Given the description of an element on the screen output the (x, y) to click on. 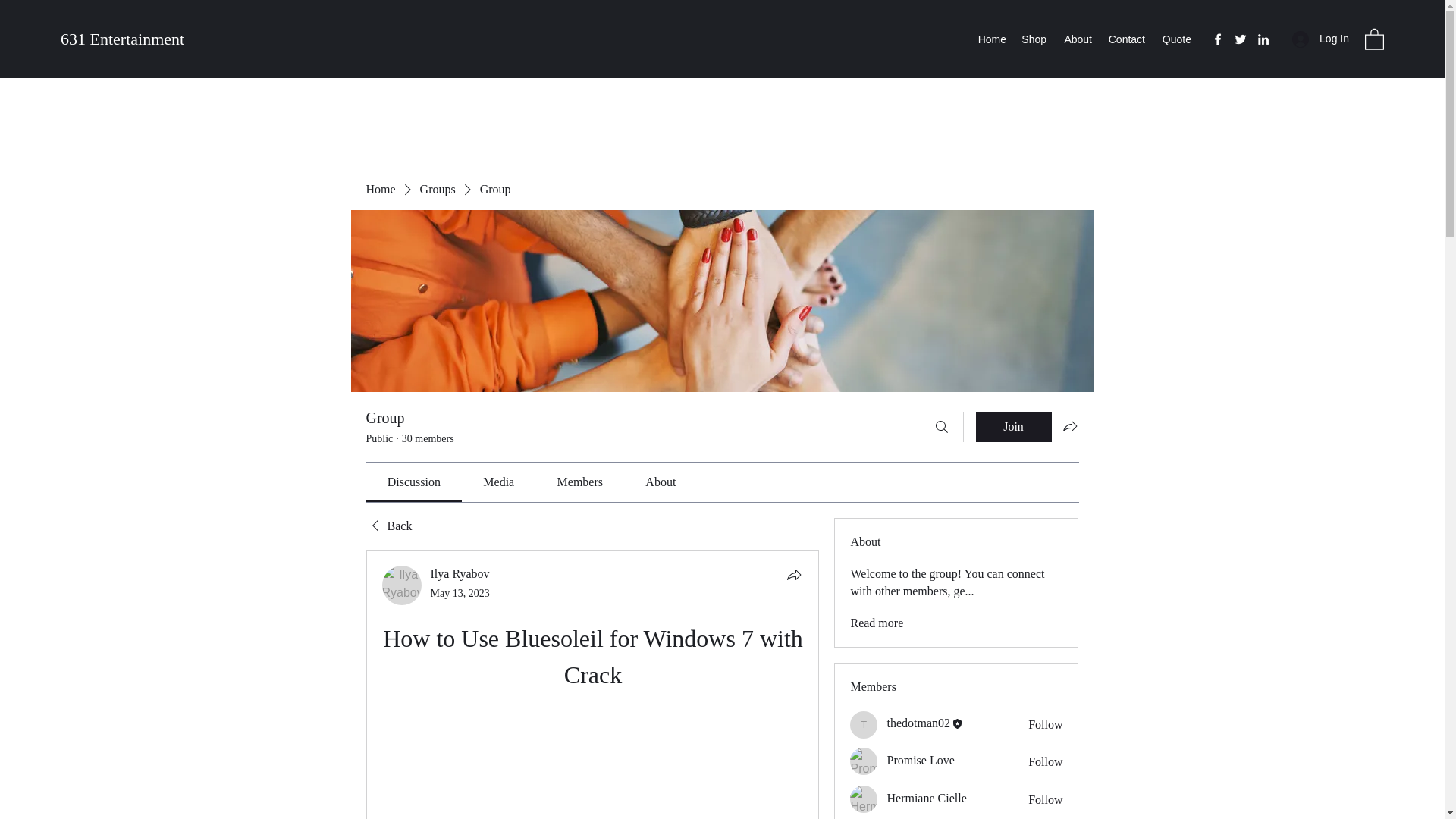
Home (379, 189)
Promise Love (863, 760)
Contact (1126, 38)
Read more (876, 623)
Quote (1175, 38)
Follow (1044, 723)
thedotman02 (918, 721)
Hermiane Cielle (863, 799)
Home (991, 38)
thedotman02 (863, 724)
Follow (1044, 761)
Ilya Ryabov (401, 585)
Shop (1033, 38)
Back (388, 525)
About (1076, 38)
